Given the description of an element on the screen output the (x, y) to click on. 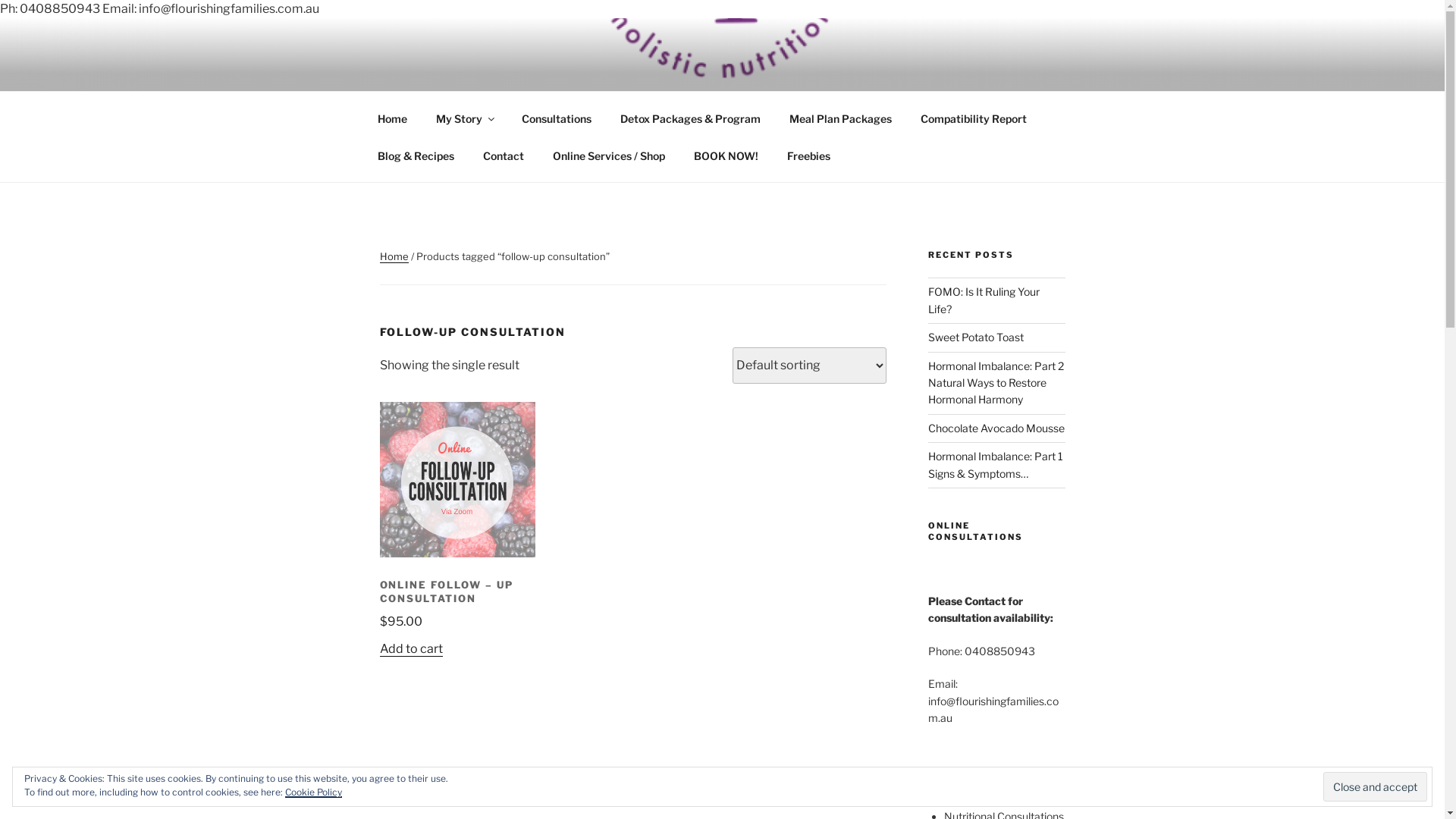
Cookie Policy Element type: text (313, 791)
Sweet Potato Toast Element type: text (975, 336)
Close and accept Element type: text (1375, 786)
Contact Element type: text (503, 154)
Online Services / Shop Element type: text (608, 154)
Freebies Element type: text (808, 154)
Chocolate Avocado Mousse Element type: text (996, 427)
Add to cart Element type: text (410, 648)
Meal Plan Packages Element type: text (840, 118)
FOMO: Is It Ruling Your Life? Element type: text (983, 299)
BOOK NOW! Element type: text (725, 154)
Consultations Element type: text (556, 118)
My Story Element type: text (464, 118)
Blog & Recipes Element type: text (415, 154)
Home Element type: text (392, 118)
Compatibility Report Element type: text (972, 118)
Home Element type: text (393, 256)
Detox Packages & Program Element type: text (689, 118)
